Given the description of an element on the screen output the (x, y) to click on. 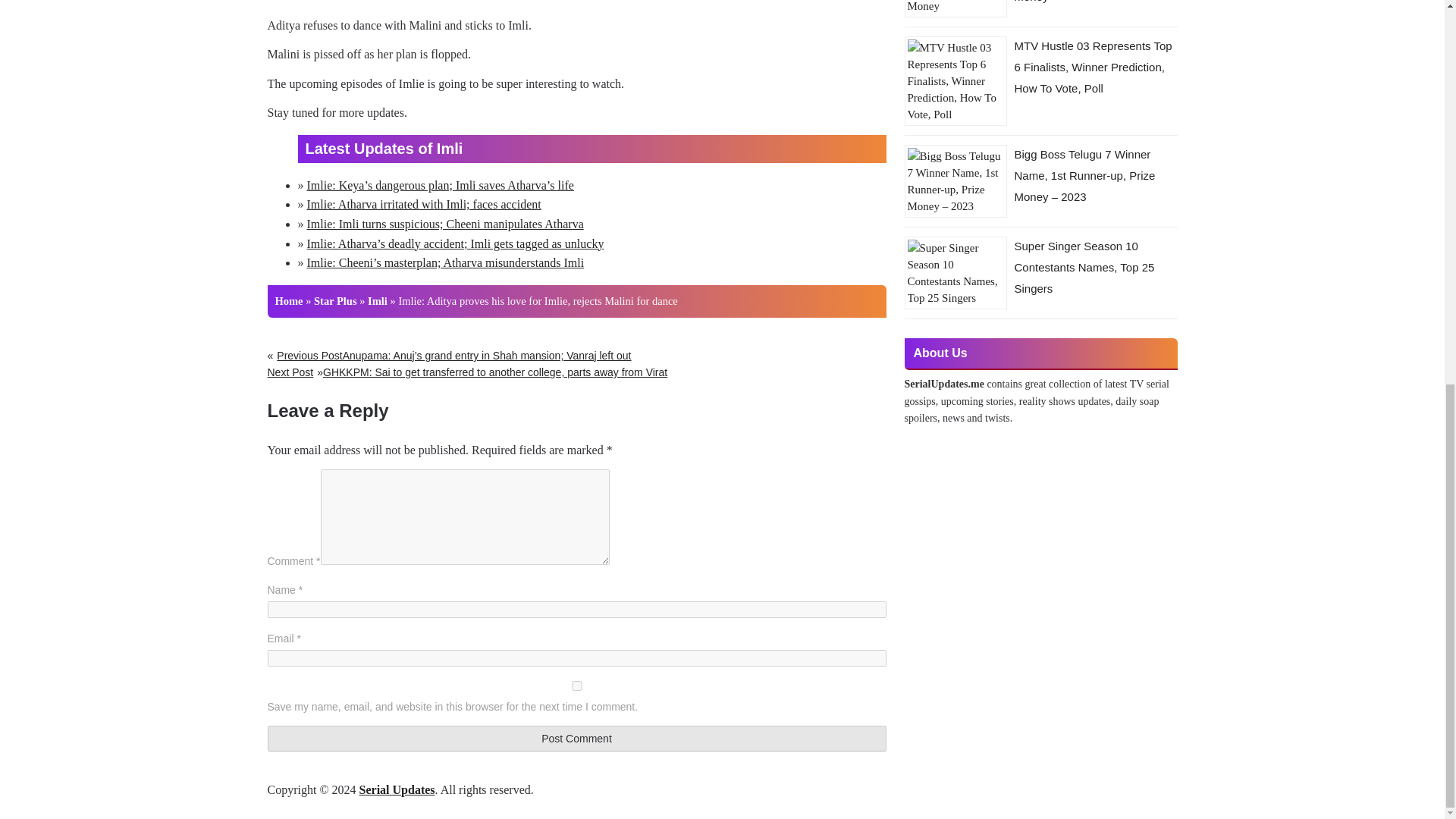
Imlie: Imli turns suspicious; Cheeni manipulates Atharva (414, 765)
Advertisement (575, 6)
Advertisement (575, 643)
Imlie: Imli turns suspicious; Cheeni manipulates Atharva (414, 765)
Imlie: Atharva irritated with Imli; faces accident (393, 521)
Imlie: Atharva irritated with Imli; faces accident (393, 521)
